Given the description of an element on the screen output the (x, y) to click on. 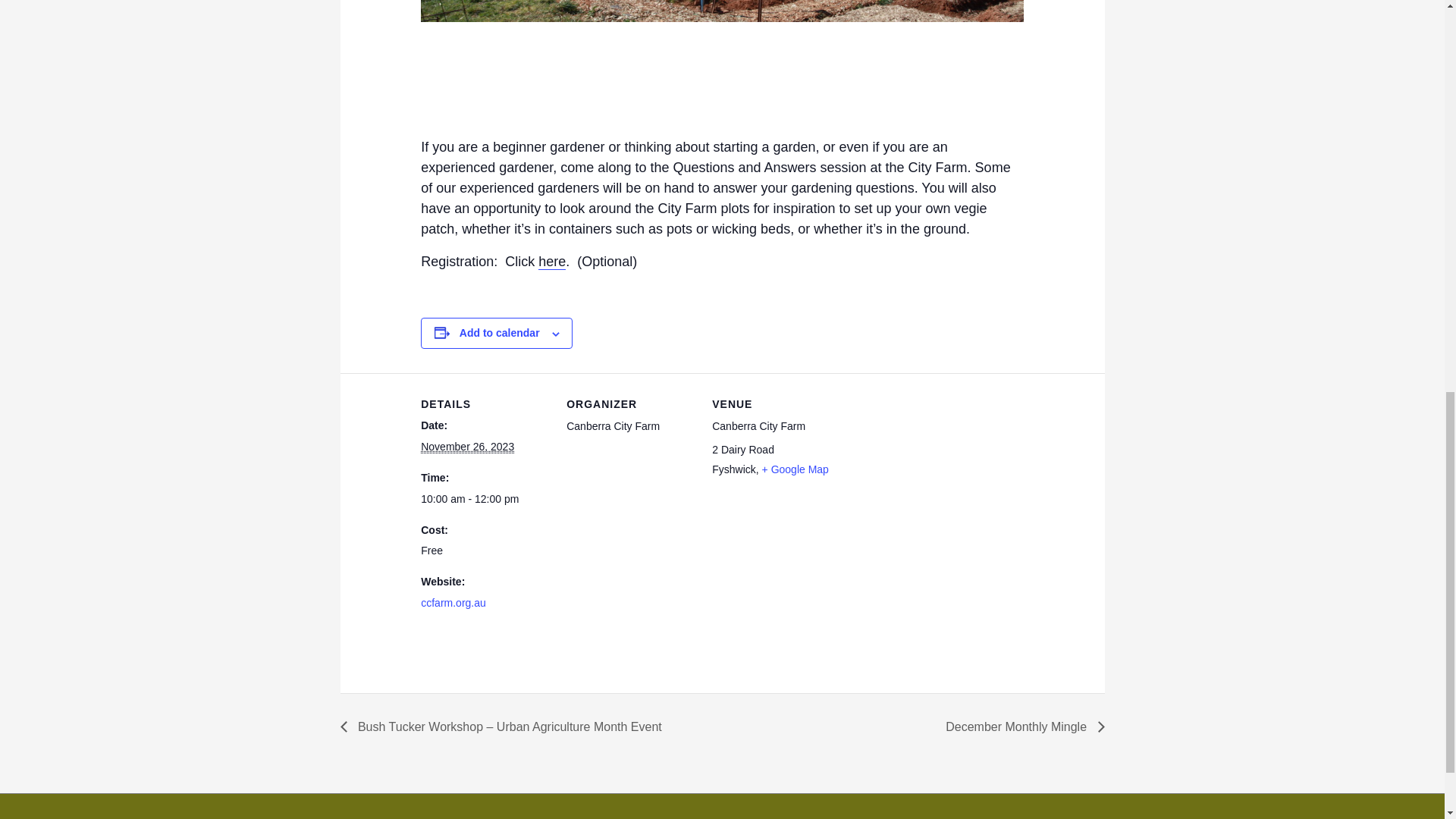
Click to view a Google Map (794, 469)
2023-11-26 (484, 499)
2023-11-26 (466, 446)
